Given the description of an element on the screen output the (x, y) to click on. 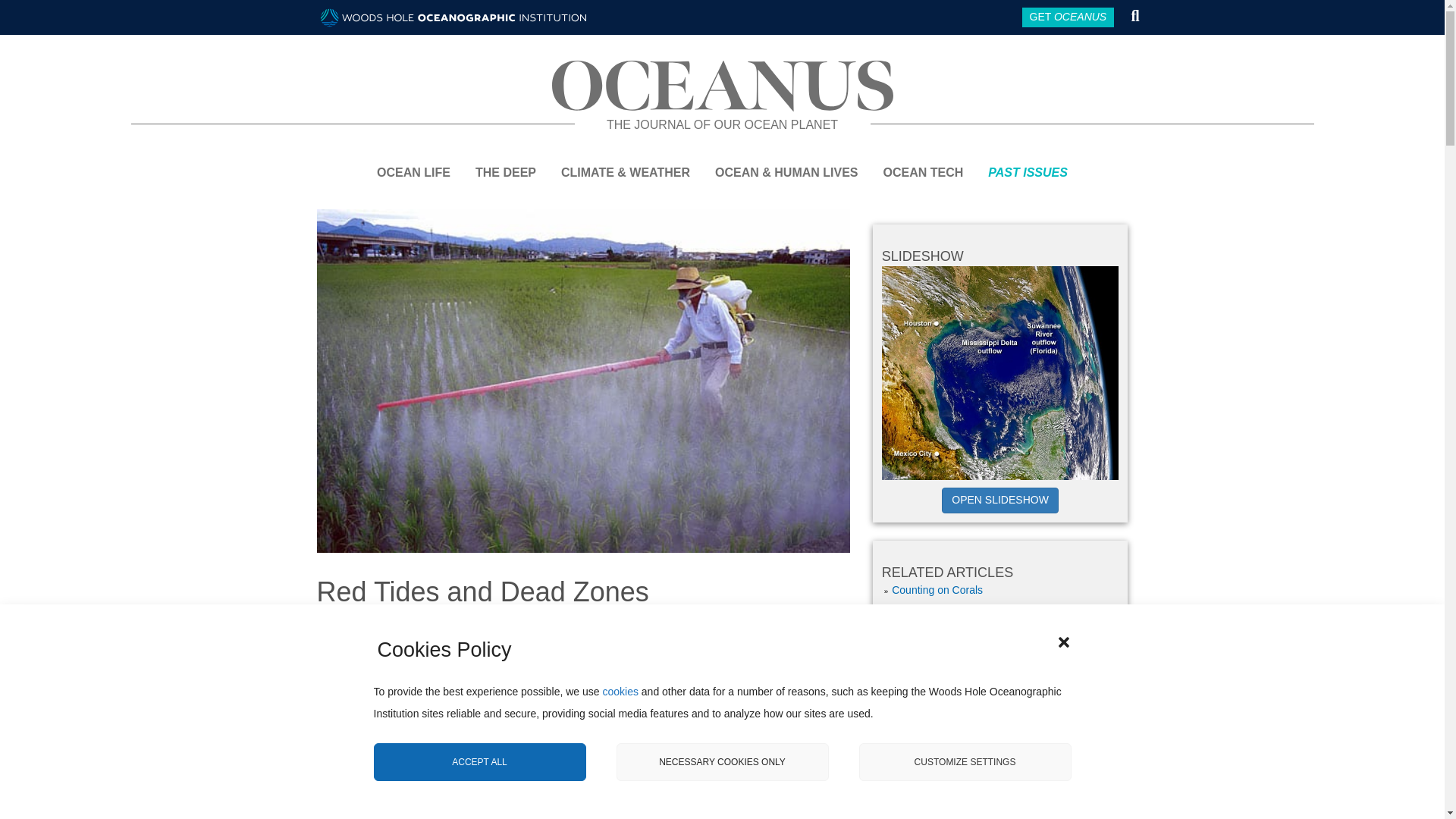
CUSTOMIZE SETTINGS (964, 768)
OCEAN LIFE (419, 160)
NECESSARY COOKIES ONLY (721, 770)
GET OCEANUS (1068, 17)
ACCEPT ALL (478, 774)
cookies (619, 739)
